Given the description of an element on the screen output the (x, y) to click on. 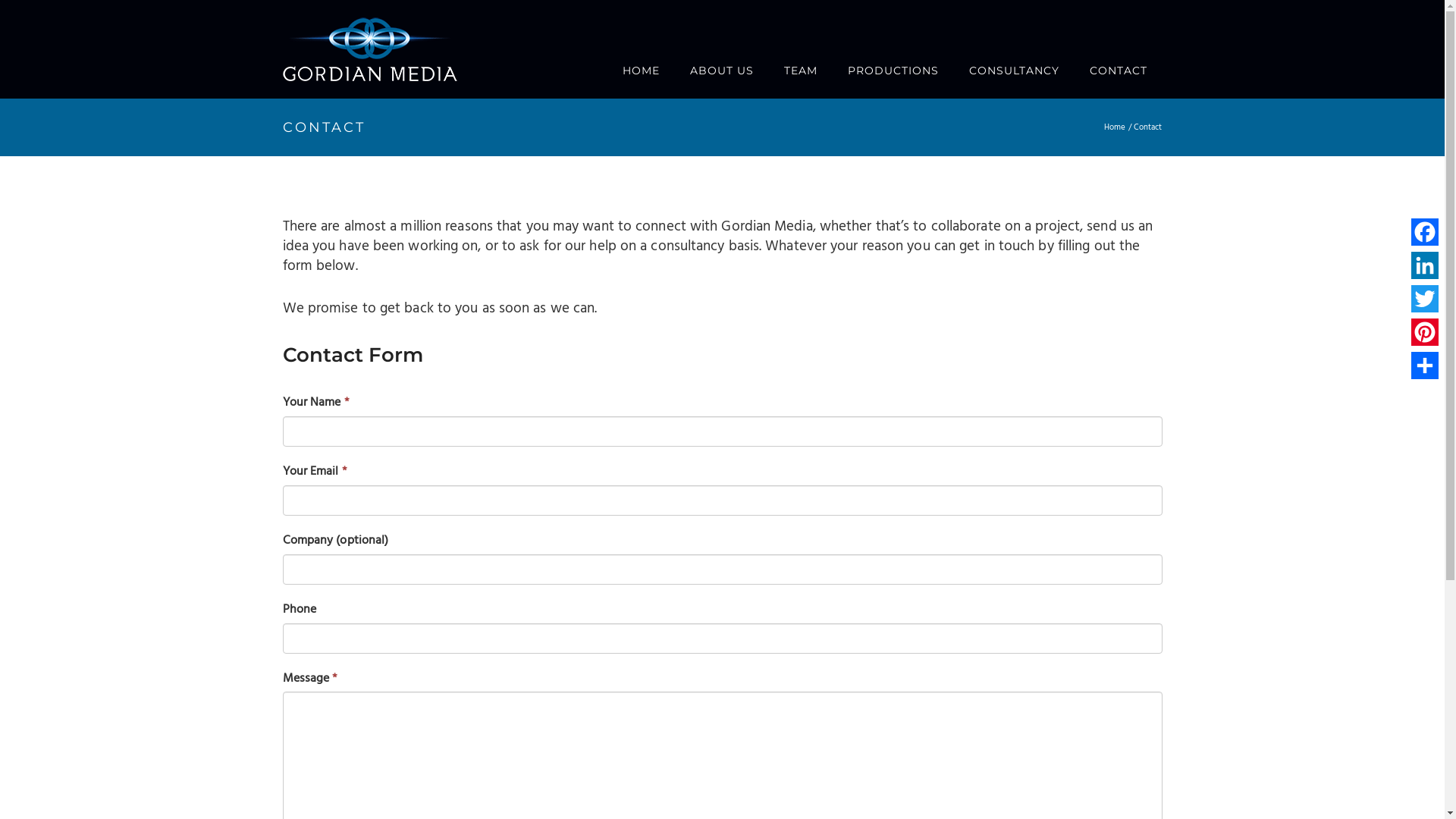
TEAM Element type: text (800, 70)
HOME Element type: text (640, 70)
Twitter Element type: text (1424, 298)
Pinterest Element type: text (1424, 331)
Home Element type: text (1114, 126)
CONTACT Element type: text (1117, 70)
PRODUCTIONS Element type: text (892, 70)
ABOUT US Element type: text (721, 70)
CONSULTANCY Element type: text (1013, 70)
Share Element type: text (1424, 365)
Facebook Element type: text (1424, 231)
LinkedIn Element type: text (1424, 265)
Contact Element type: text (1147, 126)
